Given the description of an element on the screen output the (x, y) to click on. 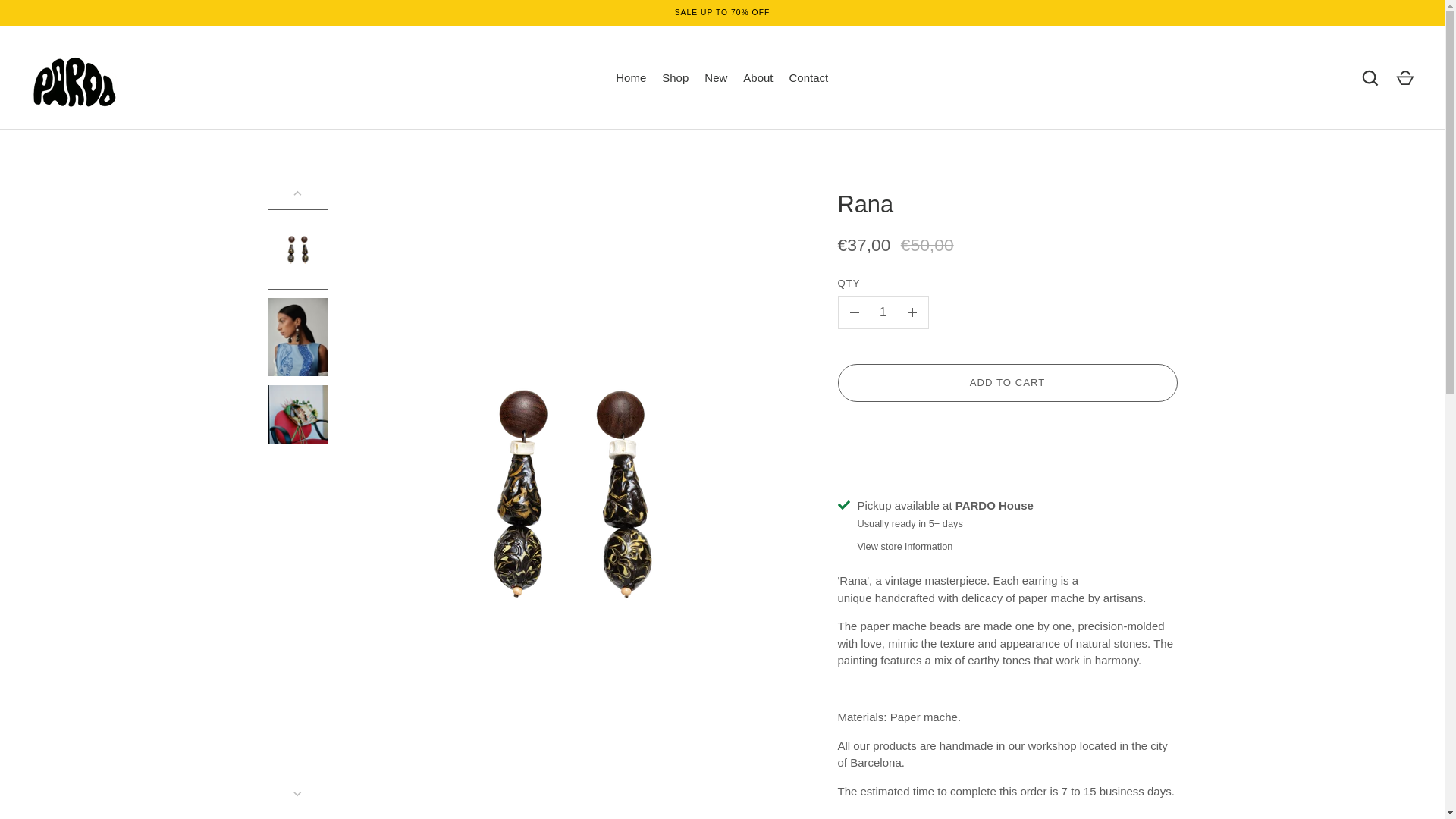
Home (630, 77)
1 (883, 312)
Shop (675, 77)
New (716, 77)
Contact (807, 77)
About (757, 77)
